Given the description of an element on the screen output the (x, y) to click on. 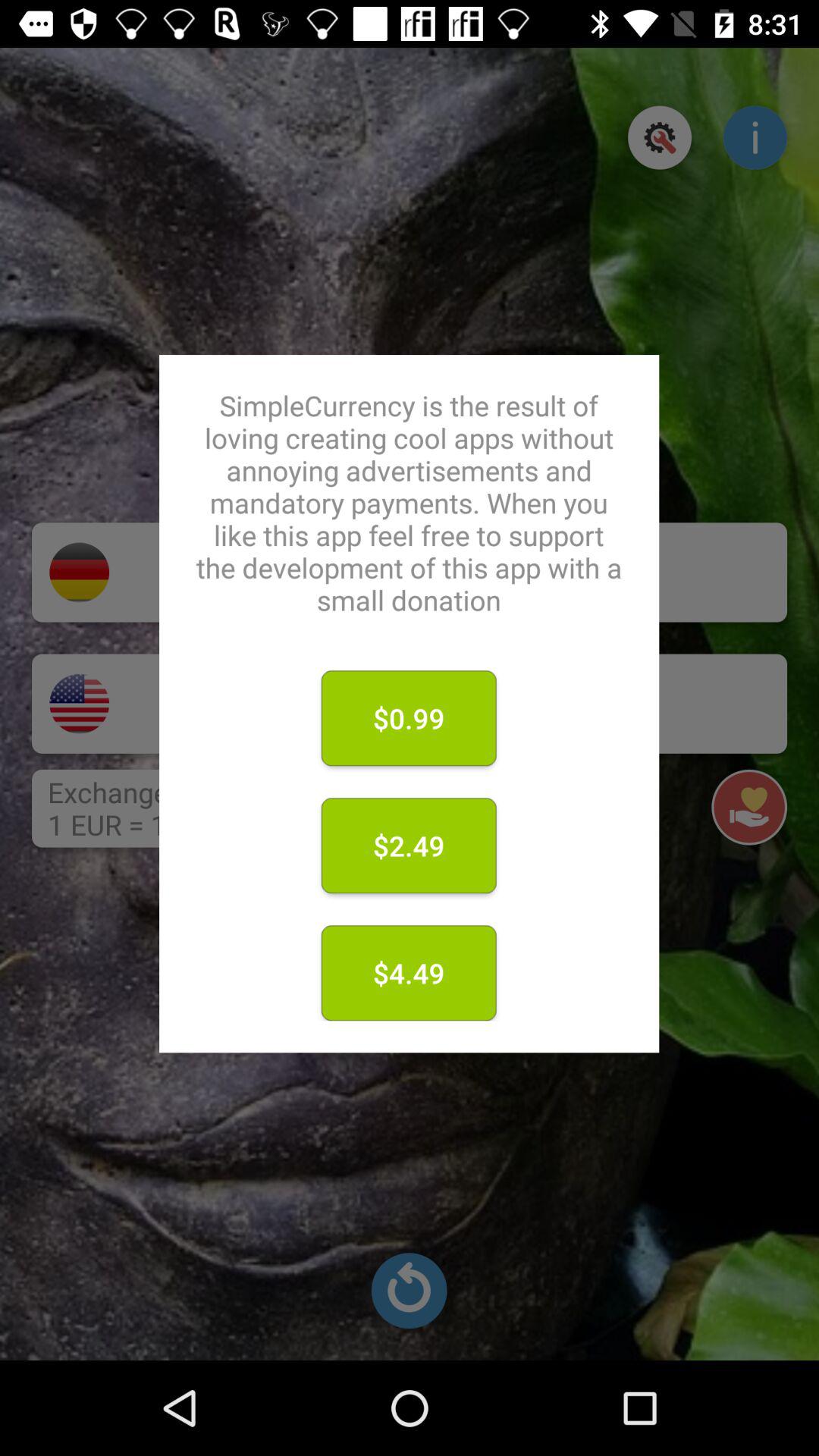
refresh the current results (409, 1290)
